Given the description of an element on the screen output the (x, y) to click on. 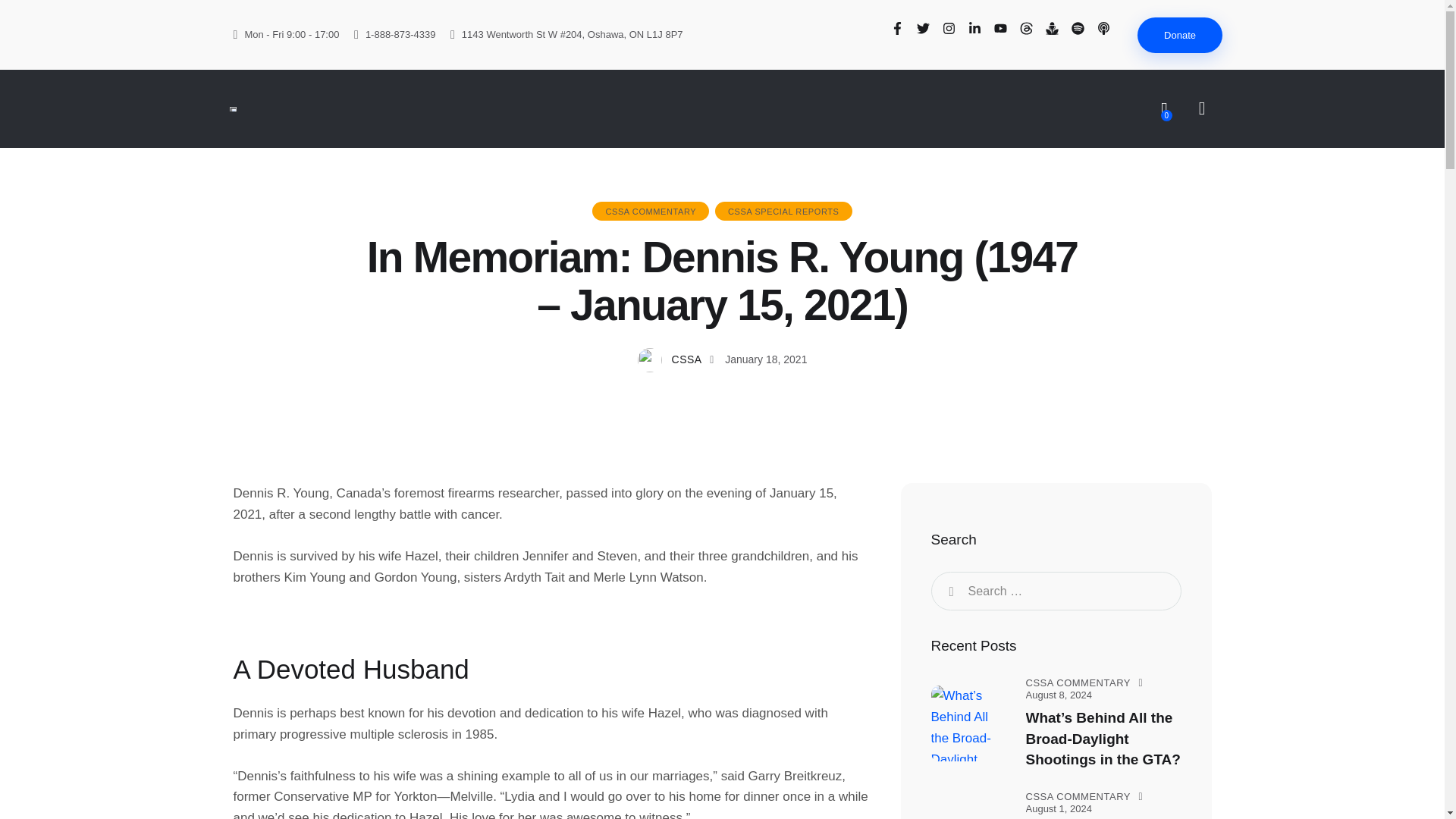
Donate (1180, 35)
1-888-873-4339 (394, 34)
View all posts in CSSA Commentary (1077, 796)
View all posts in CSSA Commentary (1077, 682)
